Given the description of an element on the screen output the (x, y) to click on. 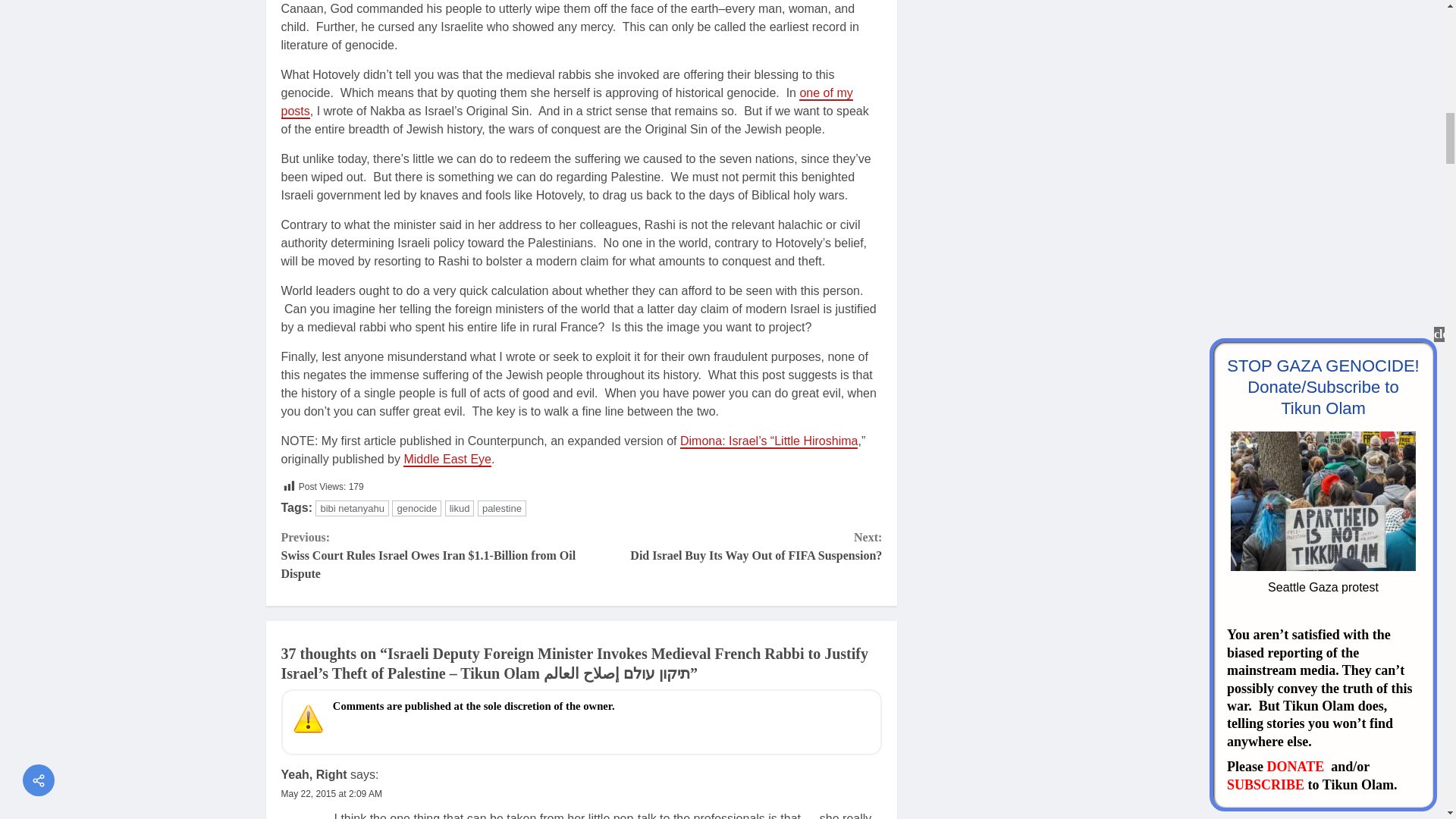
palestine (501, 508)
likud (459, 508)
bibi netanyahu (351, 508)
genocide (416, 508)
one of my posts (566, 102)
Middle East Eye (731, 546)
